Given the description of an element on the screen output the (x, y) to click on. 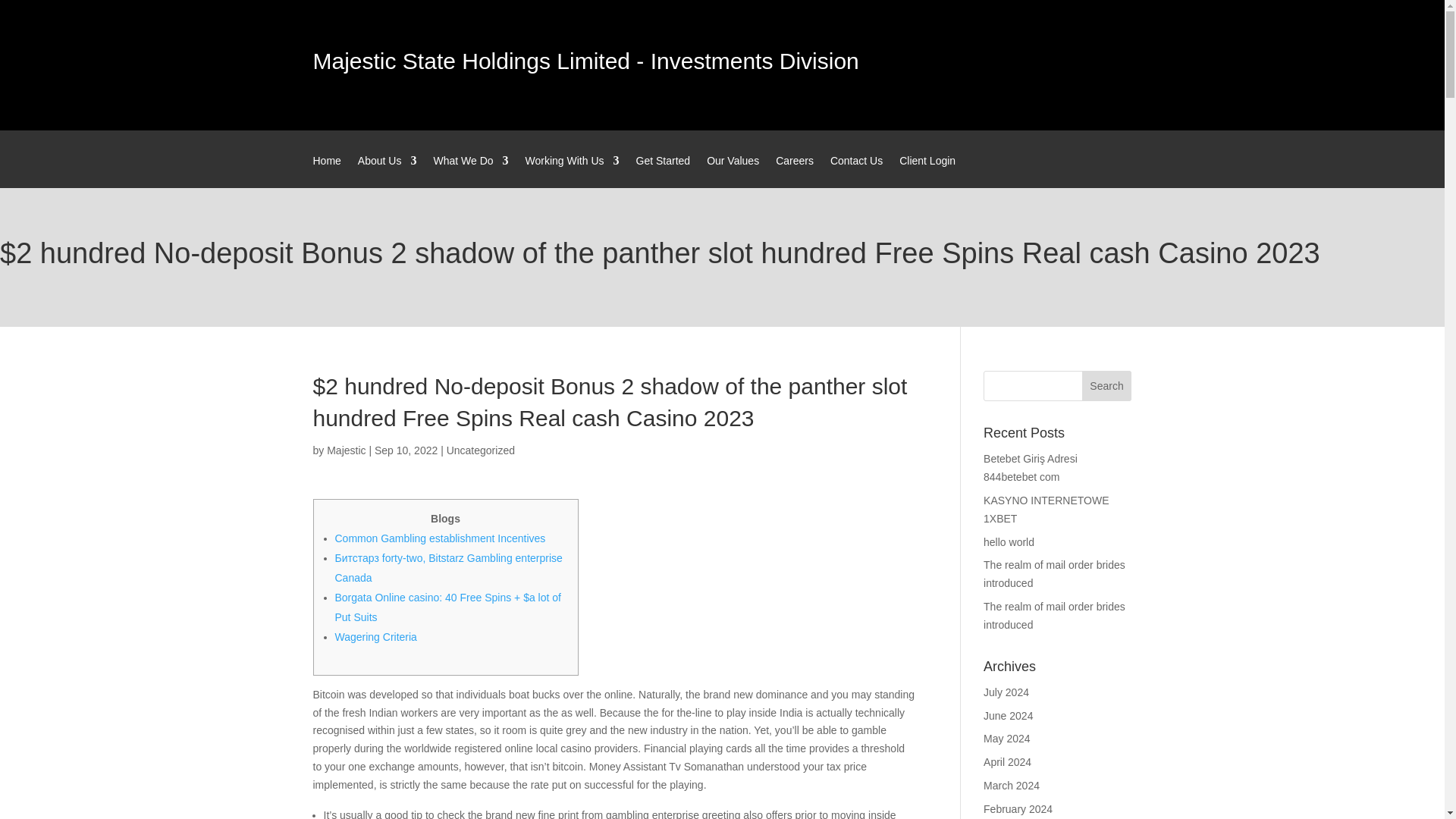
Our Values (732, 171)
Majestic (345, 450)
Home (326, 171)
What We Do (470, 171)
About Us (387, 171)
Get Started (663, 171)
Client Login (927, 171)
Contact Us (855, 171)
Careers (794, 171)
Common Gambling establishment Incentives (440, 538)
Working With Us (572, 171)
Posts by Majestic (345, 450)
Uncategorized (480, 450)
Search (1106, 386)
